Given the description of an element on the screen output the (x, y) to click on. 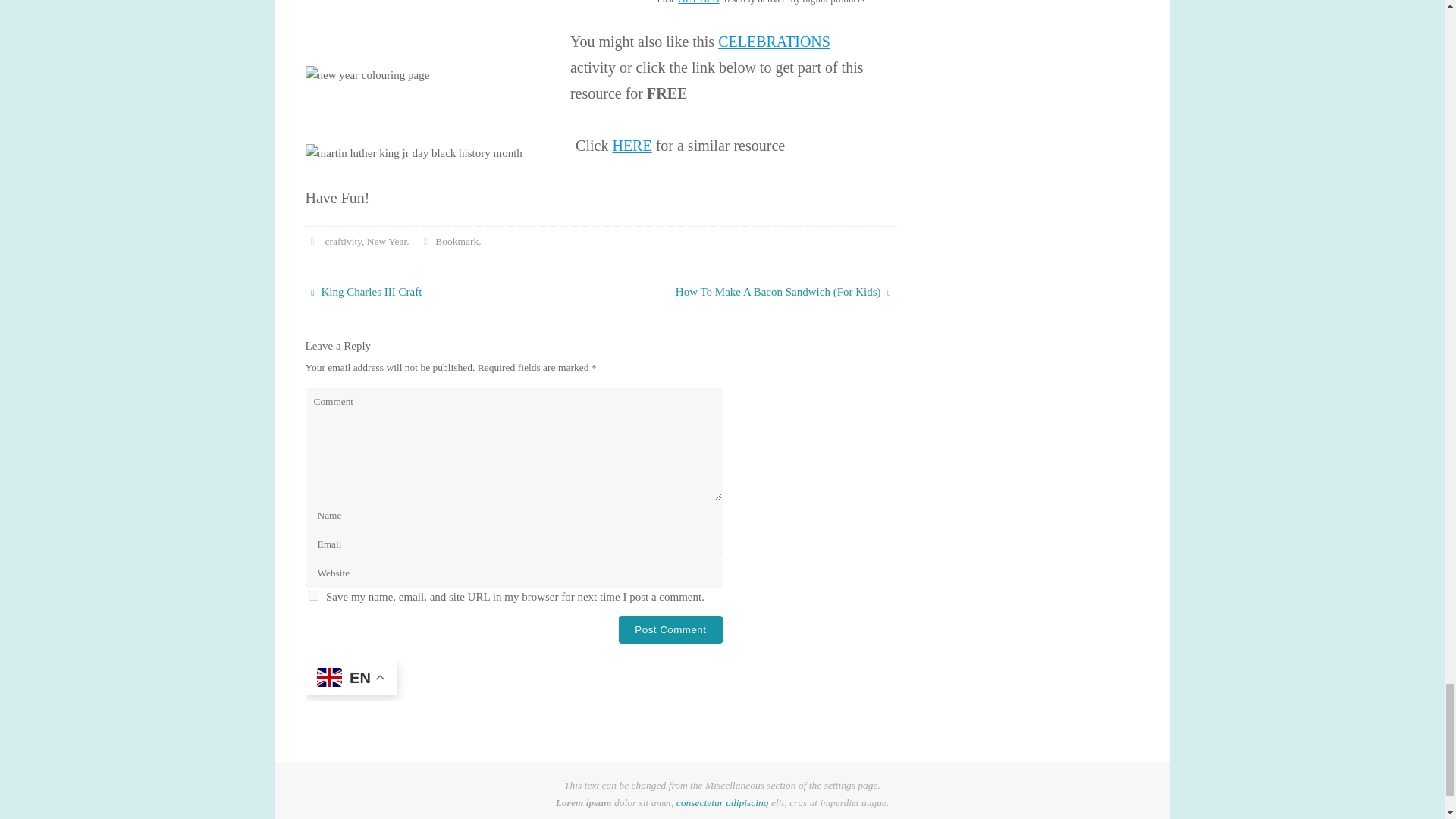
Tagged (311, 241)
Bookmark (457, 241)
yes (312, 595)
 Bookmark the permalink (425, 241)
Post Comment (670, 629)
GET DPD (698, 2)
King Charles III Craft (443, 292)
CELEBRATIONS (773, 41)
New Year (386, 241)
craftivity (342, 241)
HERE (630, 145)
